Given the description of an element on the screen output the (x, y) to click on. 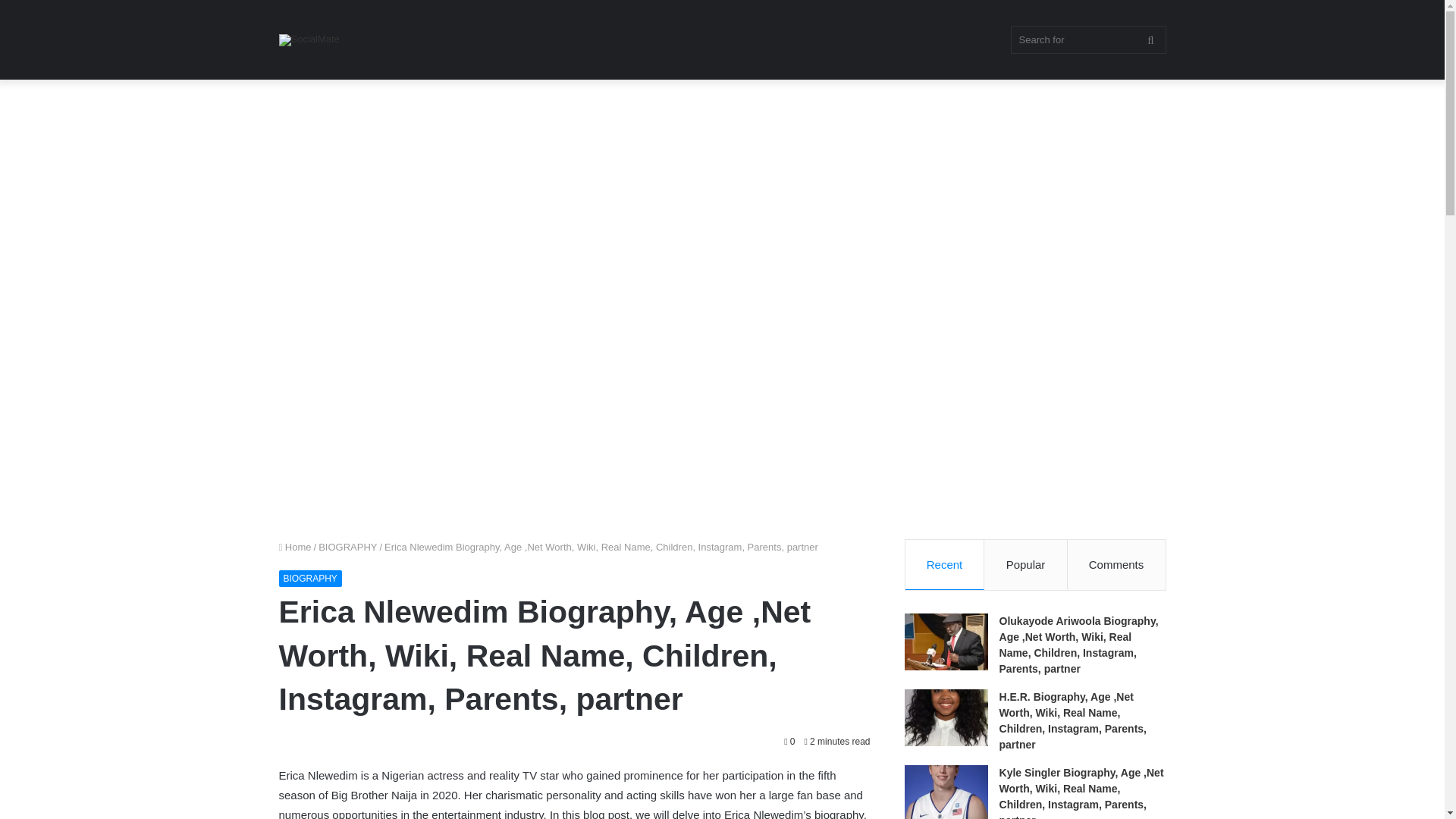
Popular (1025, 564)
SocialMate (309, 39)
BIOGRAPHY (310, 578)
Home (295, 546)
Search for (1088, 39)
Comments (1116, 564)
BIOGRAPHY (347, 546)
Recent (945, 564)
